Given the description of an element on the screen output the (x, y) to click on. 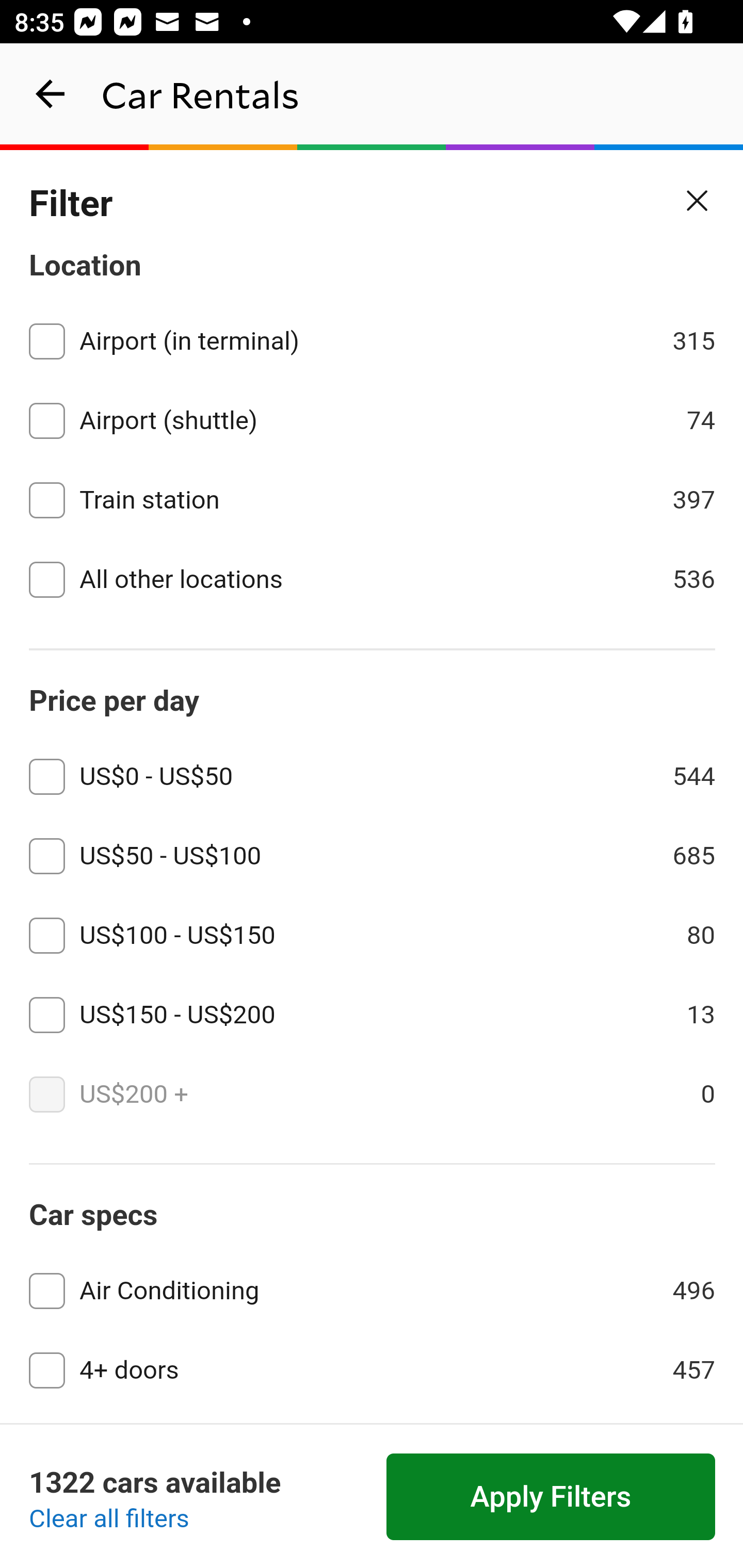
navigation_button (50, 93)
Close (697, 201)
Apply Filters (551, 1497)
Clear all filters (108, 1519)
